Given the description of an element on the screen output the (x, y) to click on. 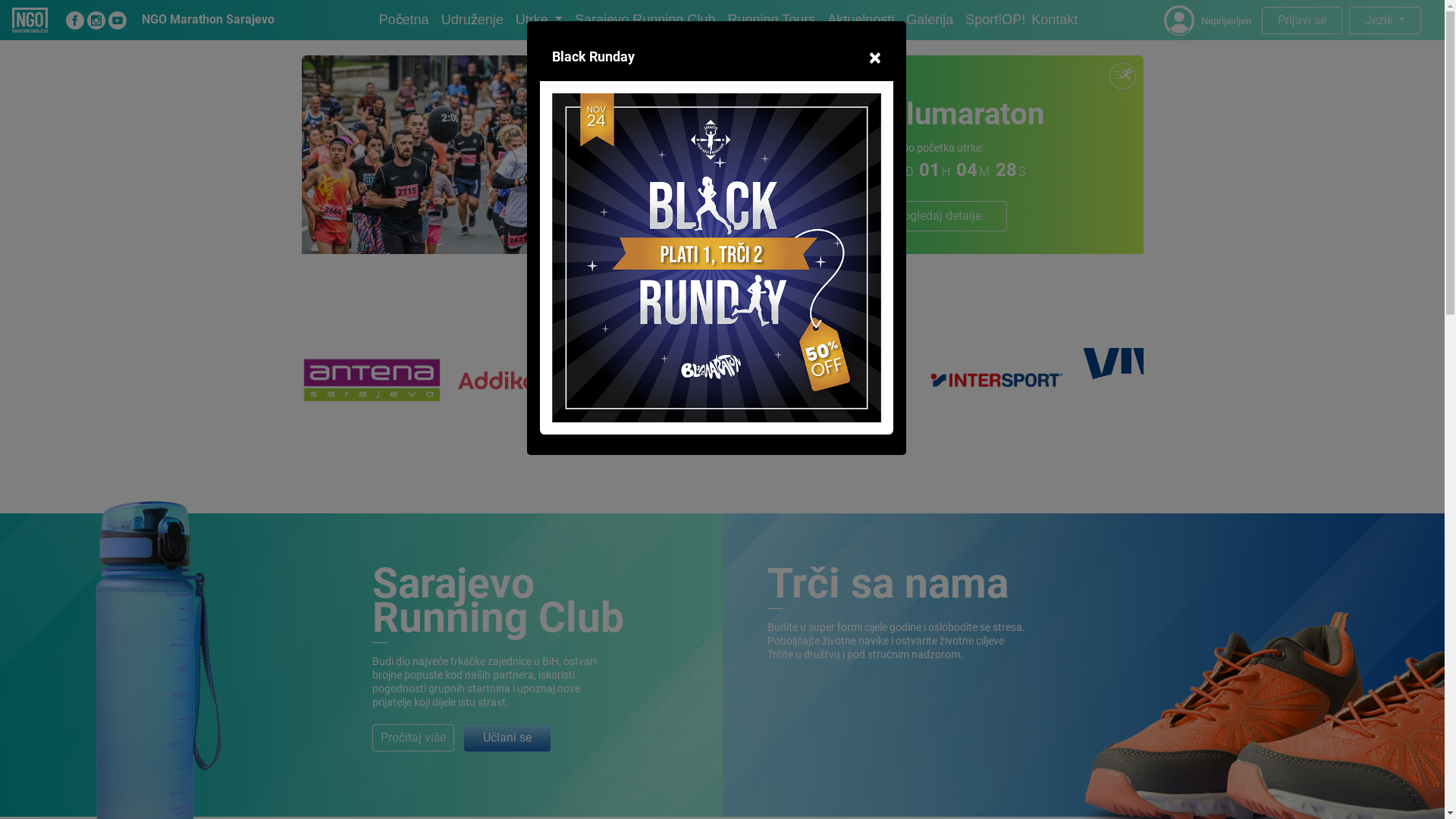
Aktuelnosti Element type: text (860, 19)
Registruj se Element type: text (801, 215)
Sarajevo Running Club Element type: text (644, 19)
Prijavi se Element type: text (1301, 20)
Pogledaj detalje Element type: text (937, 215)
Sarajevo Running Club Element type: text (498, 599)
Sport!OP! Element type: text (995, 19)
Utrke Element type: text (539, 19)
Sarajevo polumaraton Element type: text (893, 113)
NGO Marathon Sarajevo Element type: text (207, 19)
Galerija Element type: text (929, 19)
Kontakt Element type: text (1054, 19)
Jezik Element type: text (1385, 20)
Running Tours Element type: text (771, 19)
